Given the description of an element on the screen output the (x, y) to click on. 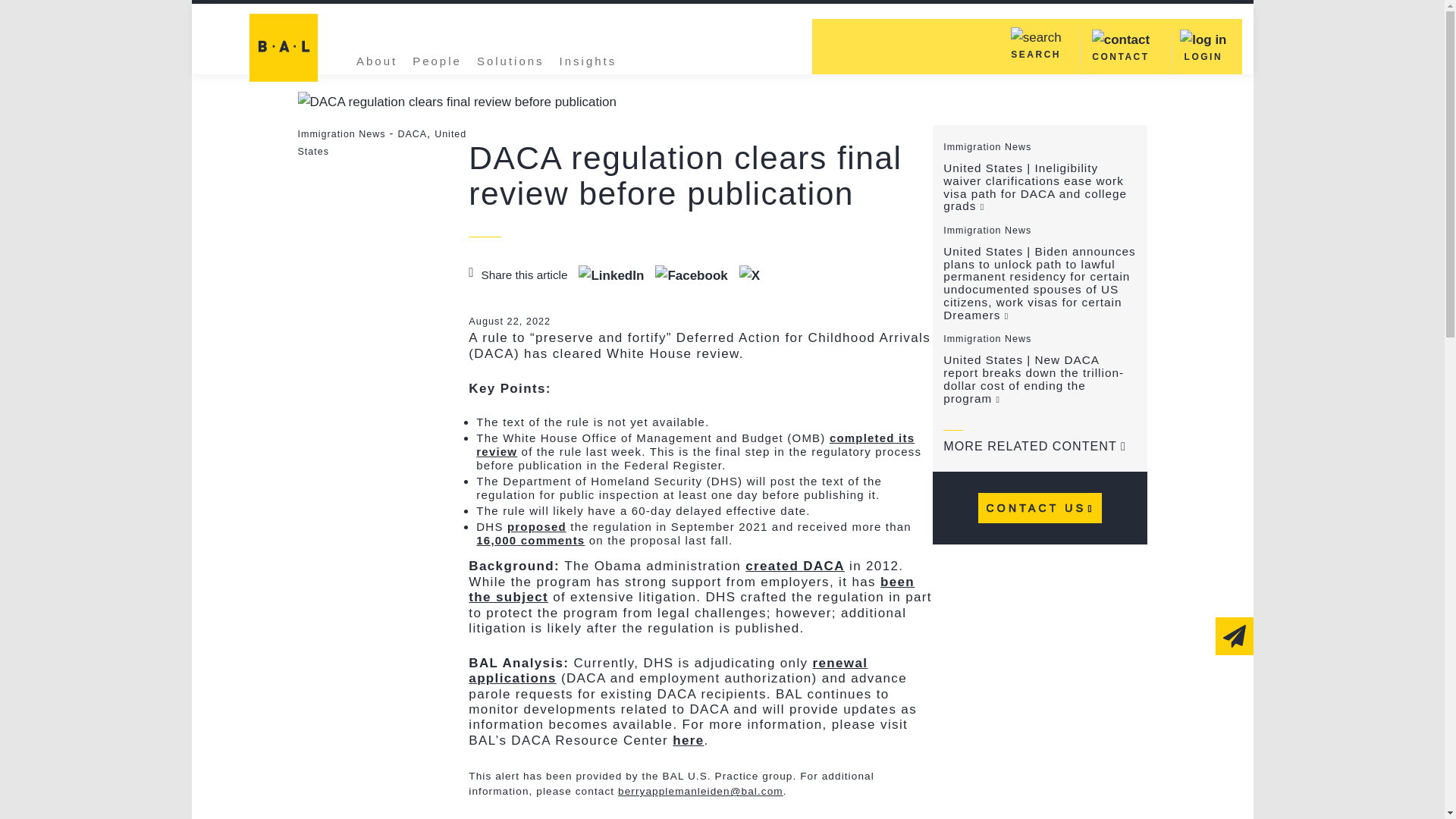
Solutions (510, 59)
Insights (588, 59)
People (437, 59)
About (376, 59)
